Given the description of an element on the screen output the (x, y) to click on. 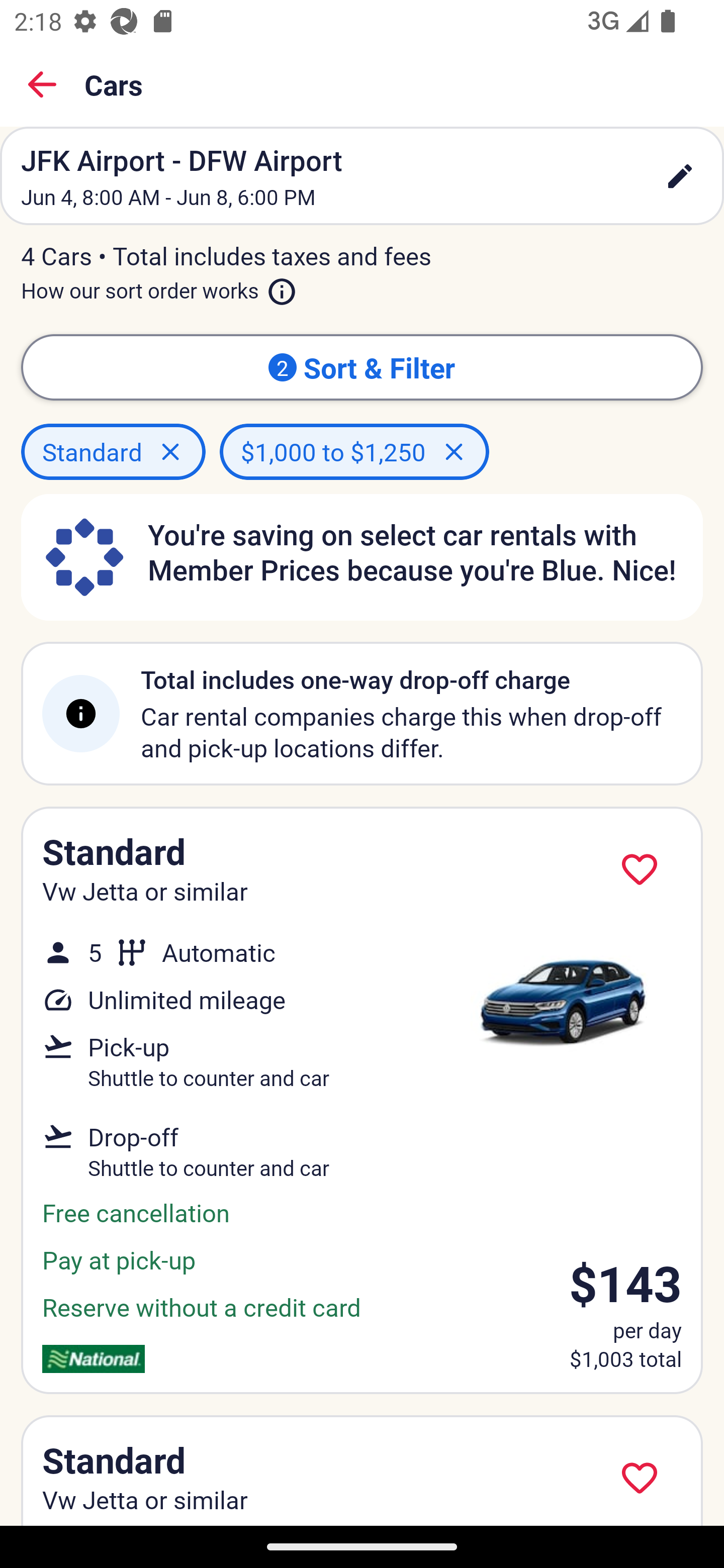
Back (42, 84)
edit (679, 175)
How our sort order works (158, 286)
2 Sort & Filter (361, 366)
